Given the description of an element on the screen output the (x, y) to click on. 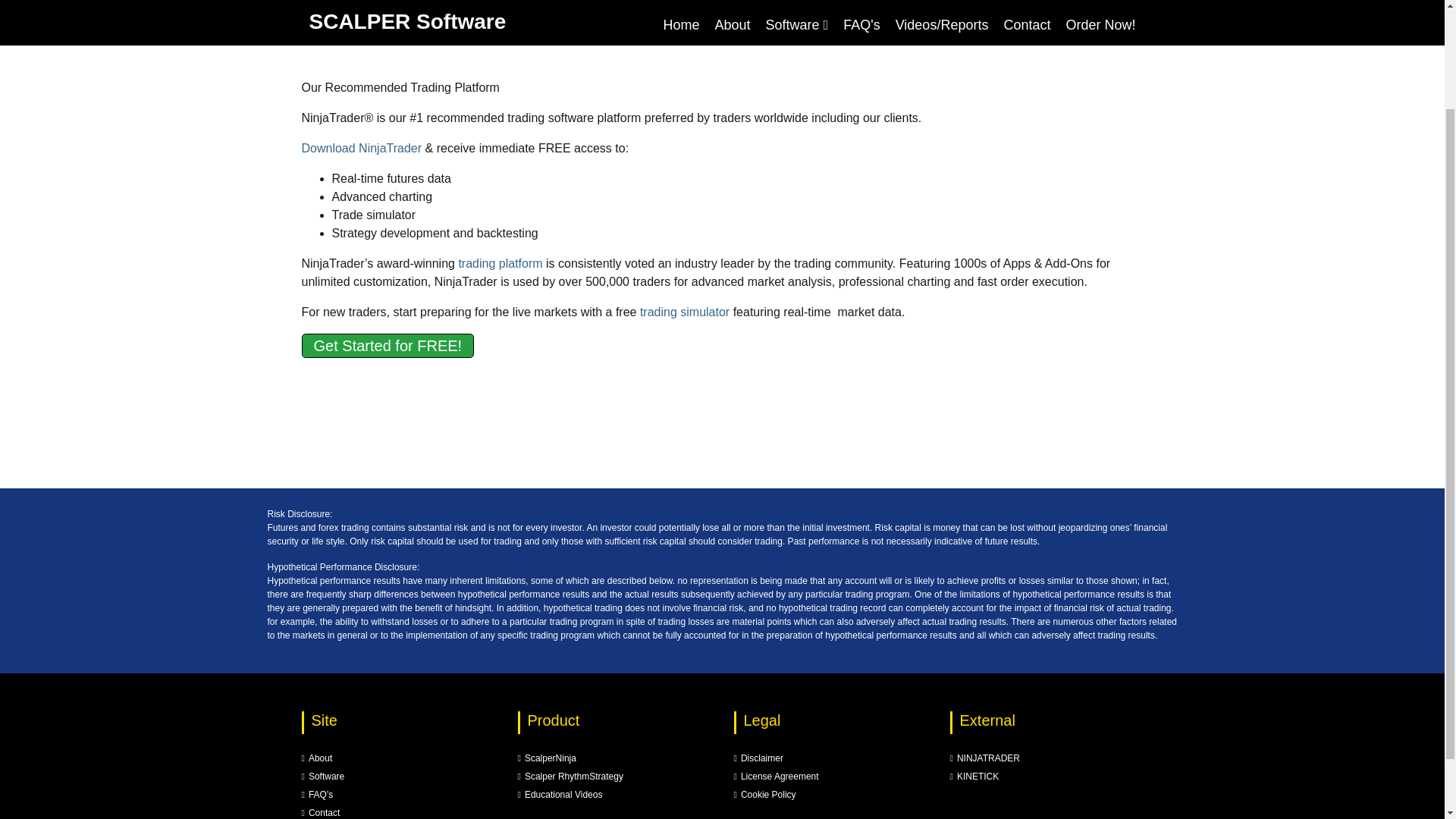
License Agreement (775, 776)
Disclaimer (758, 757)
Contact (320, 812)
KINETICK (973, 776)
Software (323, 776)
About (317, 757)
FAQ's (317, 794)
trading platform (499, 263)
Download NinjaTrader (361, 147)
Cookie Policy (764, 794)
